Given the description of an element on the screen output the (x, y) to click on. 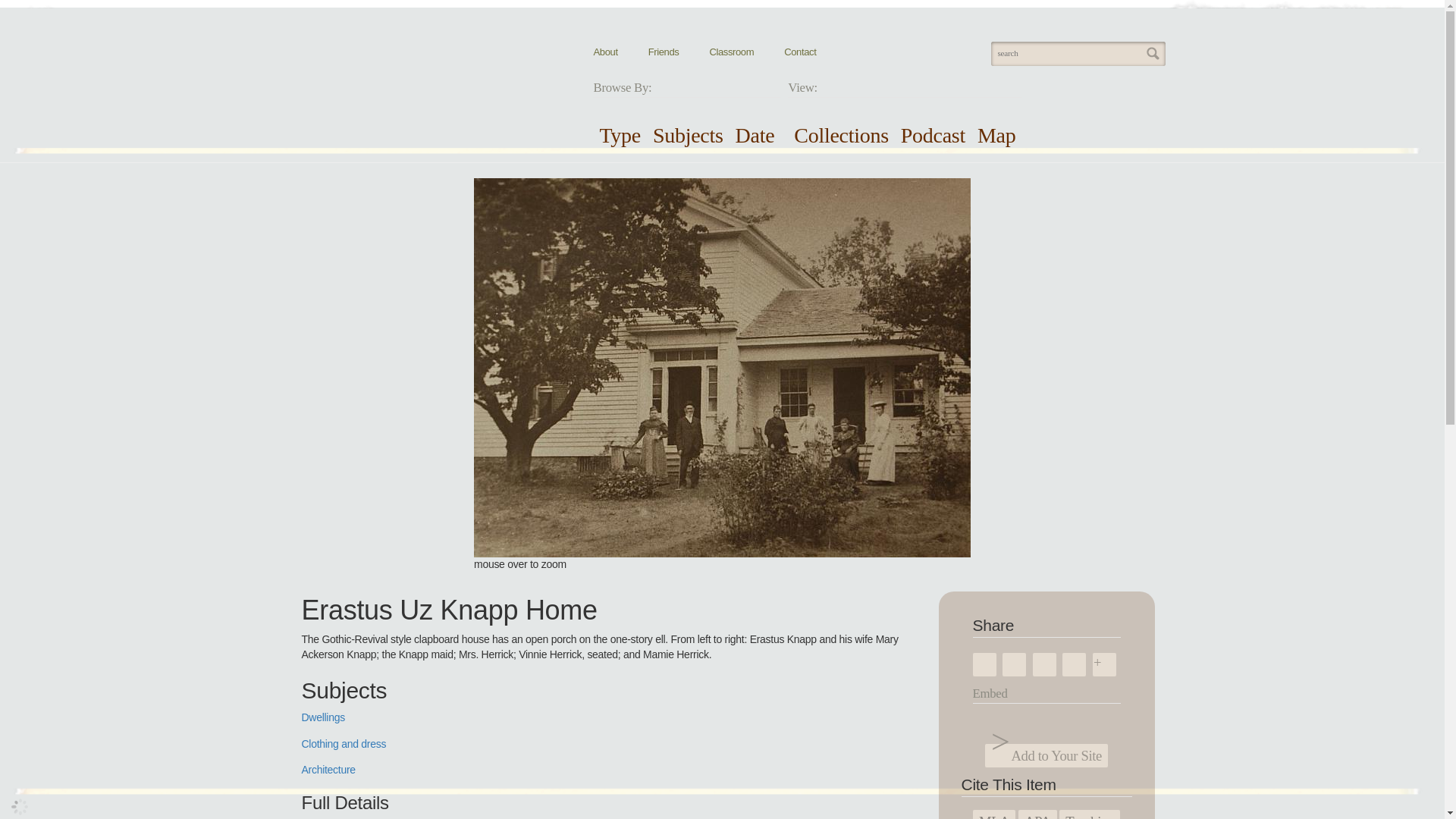
Collections (840, 135)
homepage (395, 78)
Map (995, 135)
Podcast (933, 135)
Friends (663, 52)
Date (754, 135)
Contact (799, 52)
Friends (663, 52)
Contact (799, 52)
Subjects (687, 135)
